Given the description of an element on the screen output the (x, y) to click on. 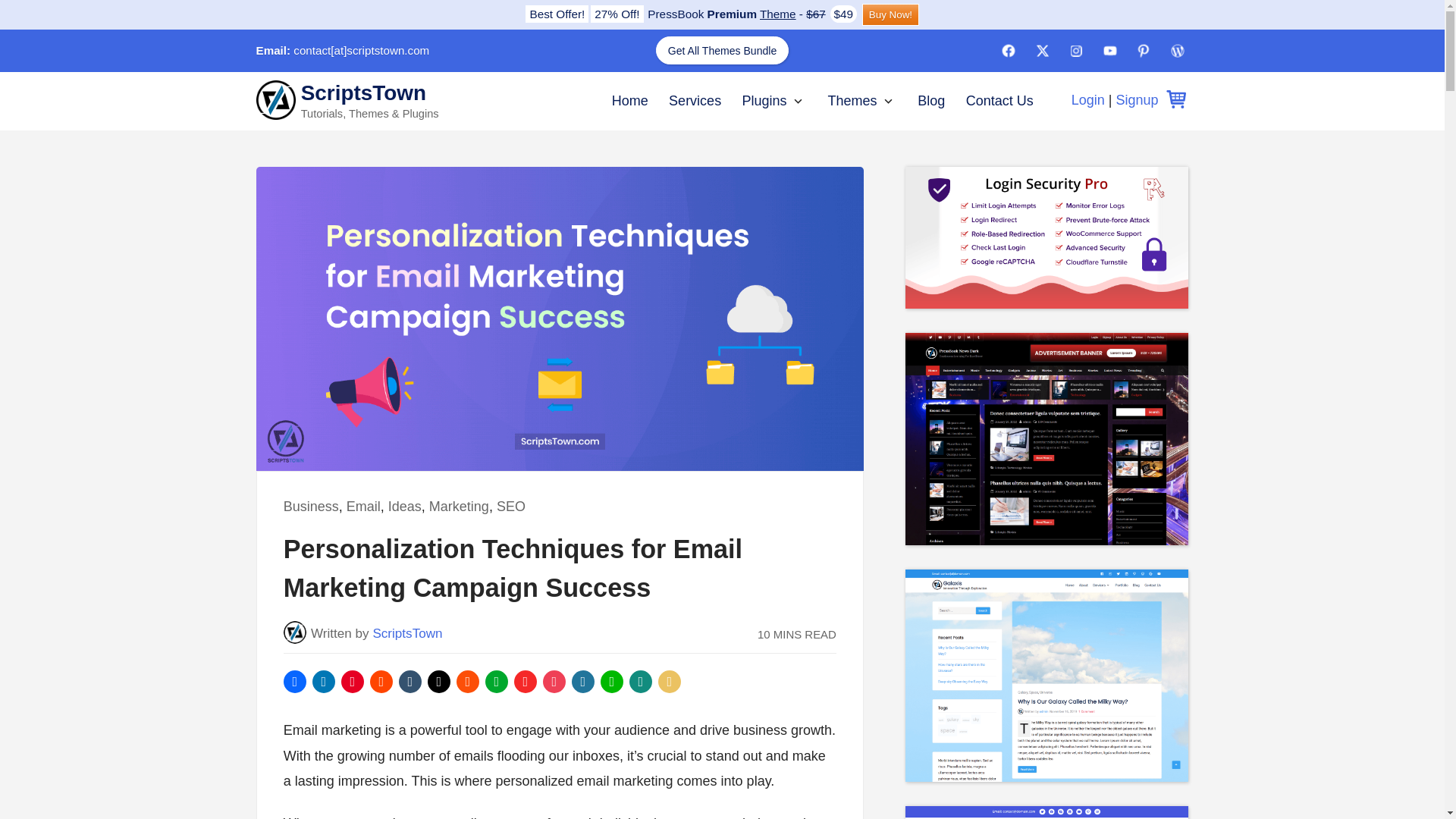
ScriptsTown (407, 633)
Youtube (1110, 50)
Theme (778, 13)
Services (694, 100)
Blog (930, 100)
Email (363, 506)
Pinterest (1143, 50)
Instagram (1075, 50)
Ideas (405, 506)
Contact Us (999, 100)
Services (694, 100)
Themes (851, 100)
Login (796, 101)
X (1088, 99)
